Given the description of an element on the screen output the (x, y) to click on. 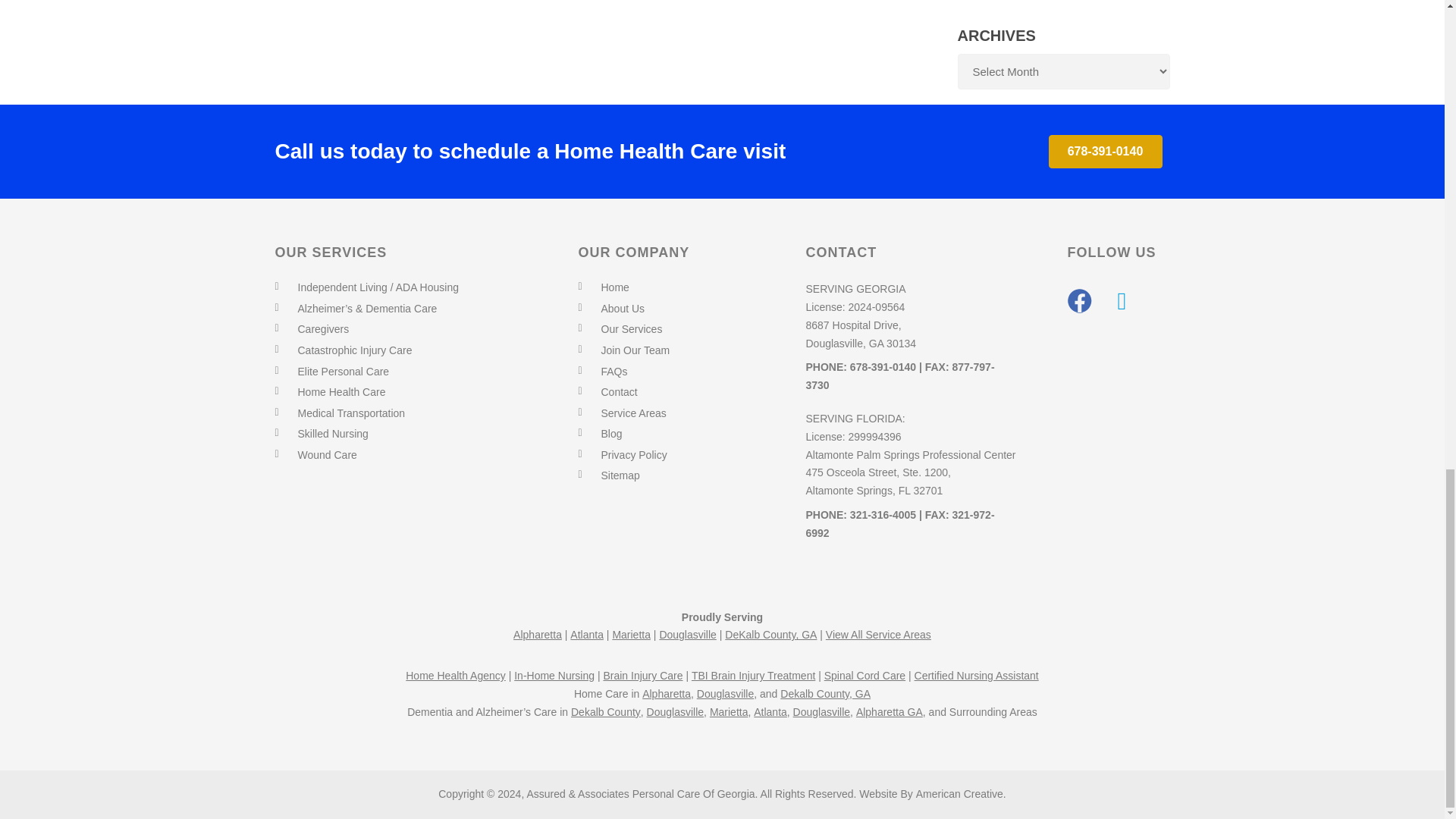
Home (613, 287)
Facebook (1079, 300)
Elite Personal Care (342, 371)
Skilled Nursing (332, 433)
678-391-0140 (1104, 151)
Catastrophic Injury Care (354, 349)
FAQs (613, 371)
About Us (622, 308)
Join Our Team (634, 349)
Caregivers (323, 328)
